Given the description of an element on the screen output the (x, y) to click on. 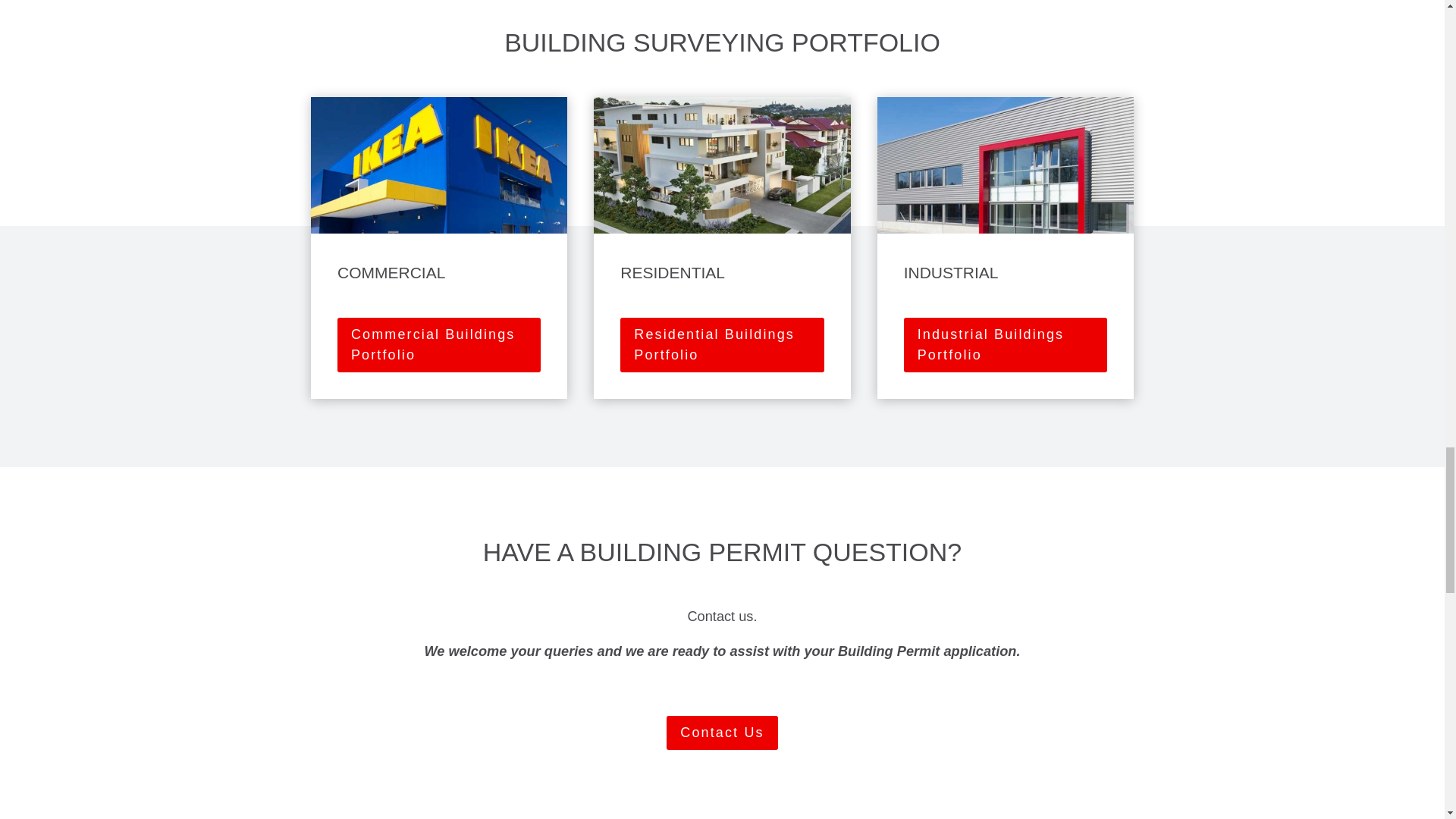
Contact Us (721, 732)
Commercial Buildings Portfolio (438, 344)
Residential Buildings Portfolio (722, 344)
Industrial Buildings Portfolio (1005, 344)
